Given the description of an element on the screen output the (x, y) to click on. 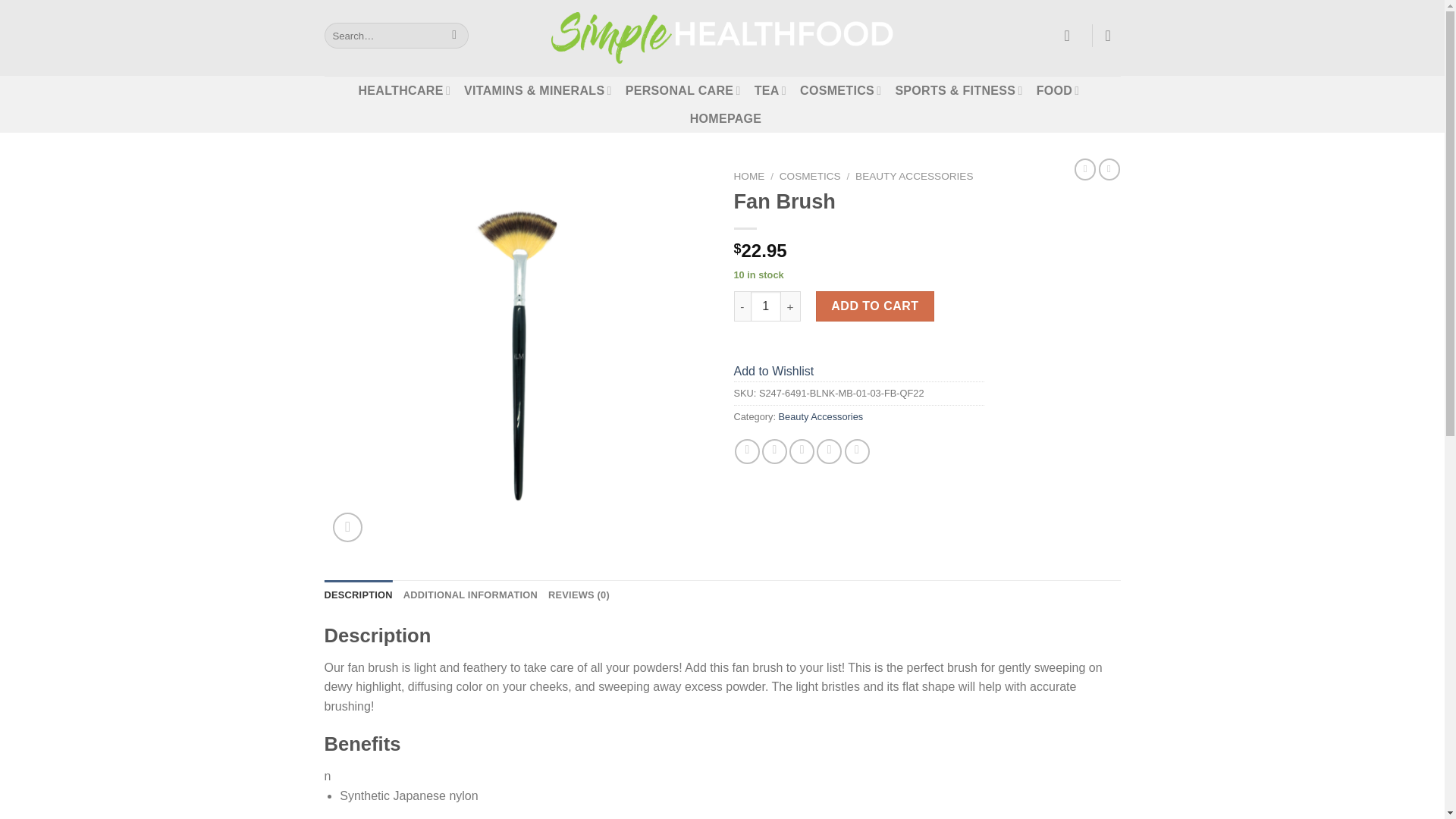
Zoom (347, 527)
Share on LinkedIn (856, 451)
Share on Facebook (747, 451)
PERSONAL CARE (683, 90)
HEALTHCARE (403, 90)
Simple Health Food - All things health and wellness (721, 37)
1 (765, 306)
Pin on Pinterest (828, 451)
Share on Twitter (774, 451)
